Given the description of an element on the screen output the (x, y) to click on. 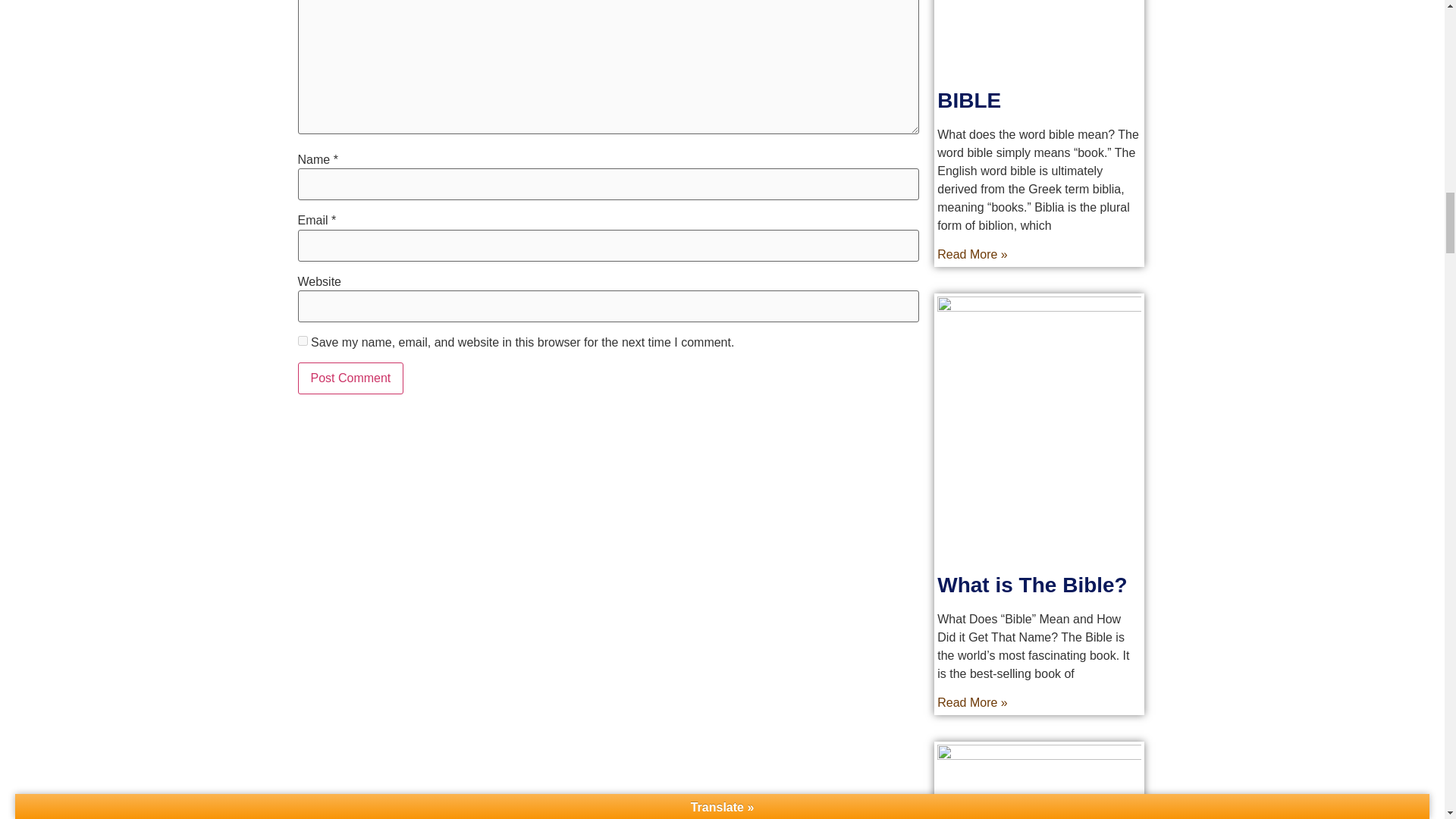
yes (302, 340)
BIBLE (969, 100)
Post Comment (350, 377)
Post Comment (350, 377)
